Given the description of an element on the screen output the (x, y) to click on. 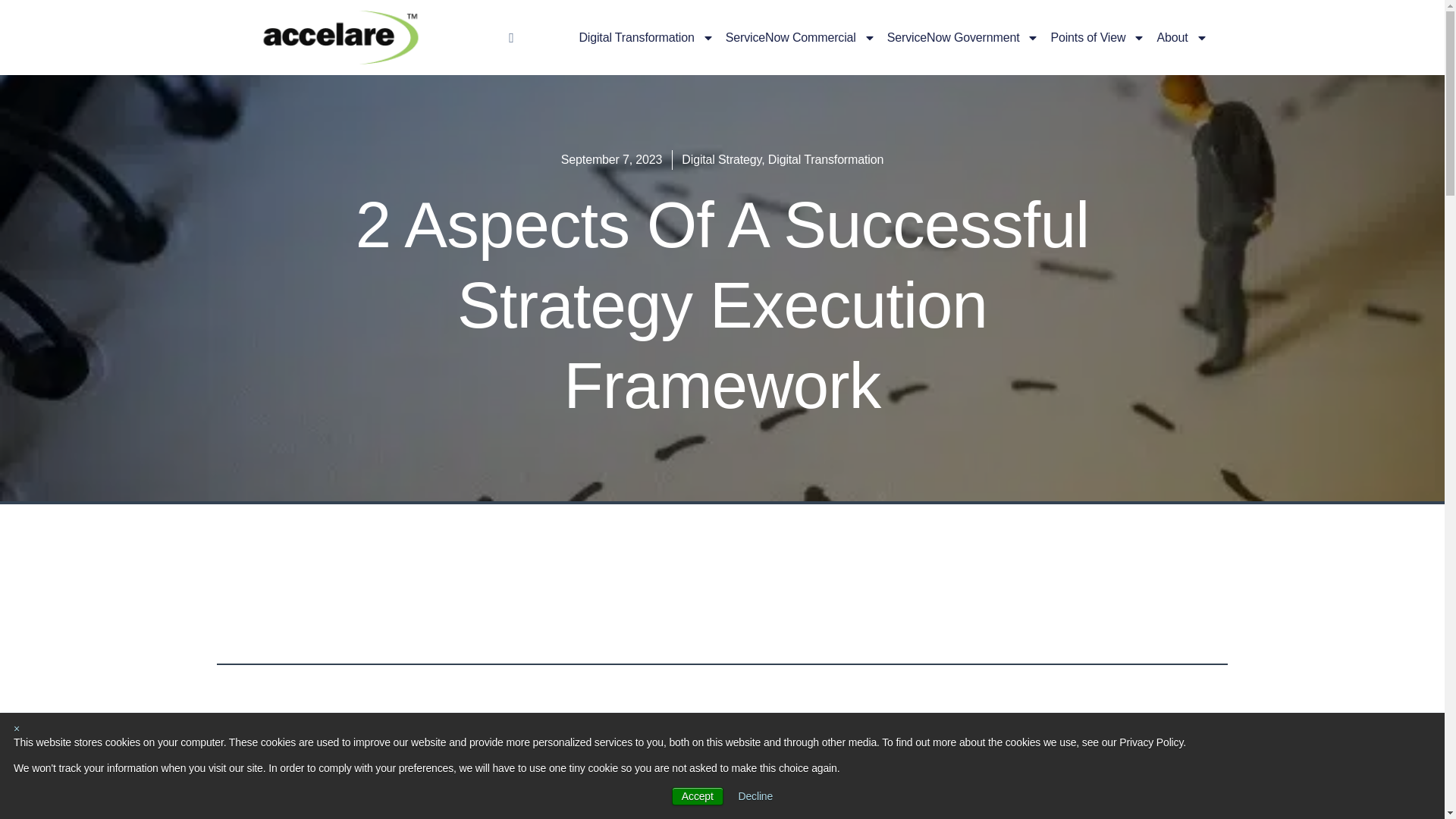
Points of View (1096, 36)
About (1181, 36)
ServiceNow Commercial (800, 36)
Accept (697, 796)
ServiceNow Government (962, 36)
Digital Transformation (645, 36)
Decline (755, 796)
